Given the description of an element on the screen output the (x, y) to click on. 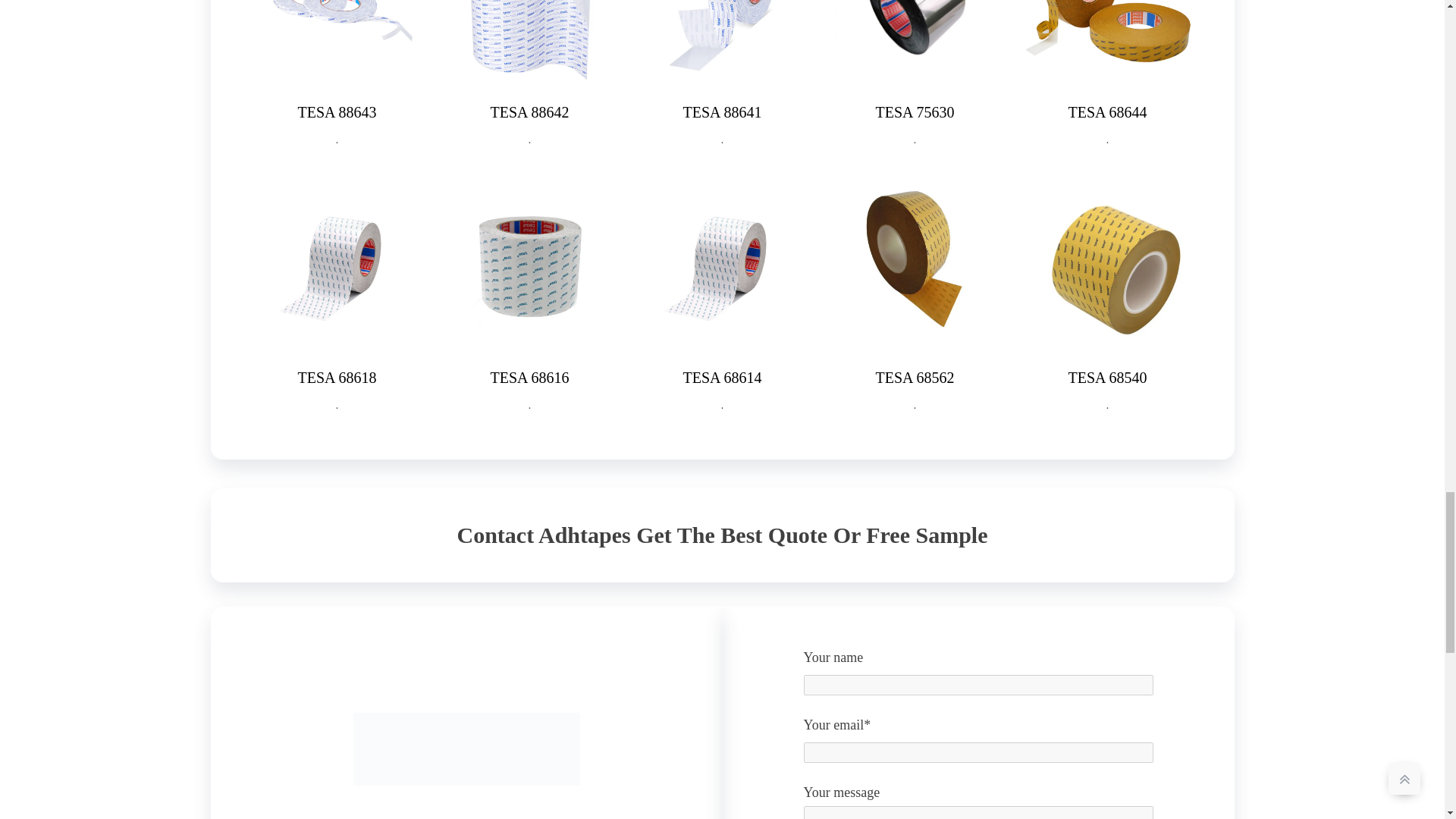
TESA 68540 (1107, 377)
TESA 68616 (529, 377)
TESA 88642 (529, 112)
TESA 68644 (1107, 112)
TESA 68614 (721, 377)
TESA 68618 (337, 377)
TESA 88643 (337, 112)
TESA 68562 (915, 377)
TESA 75630 (915, 112)
TESA 88641 (721, 112)
